Given the description of an element on the screen output the (x, y) to click on. 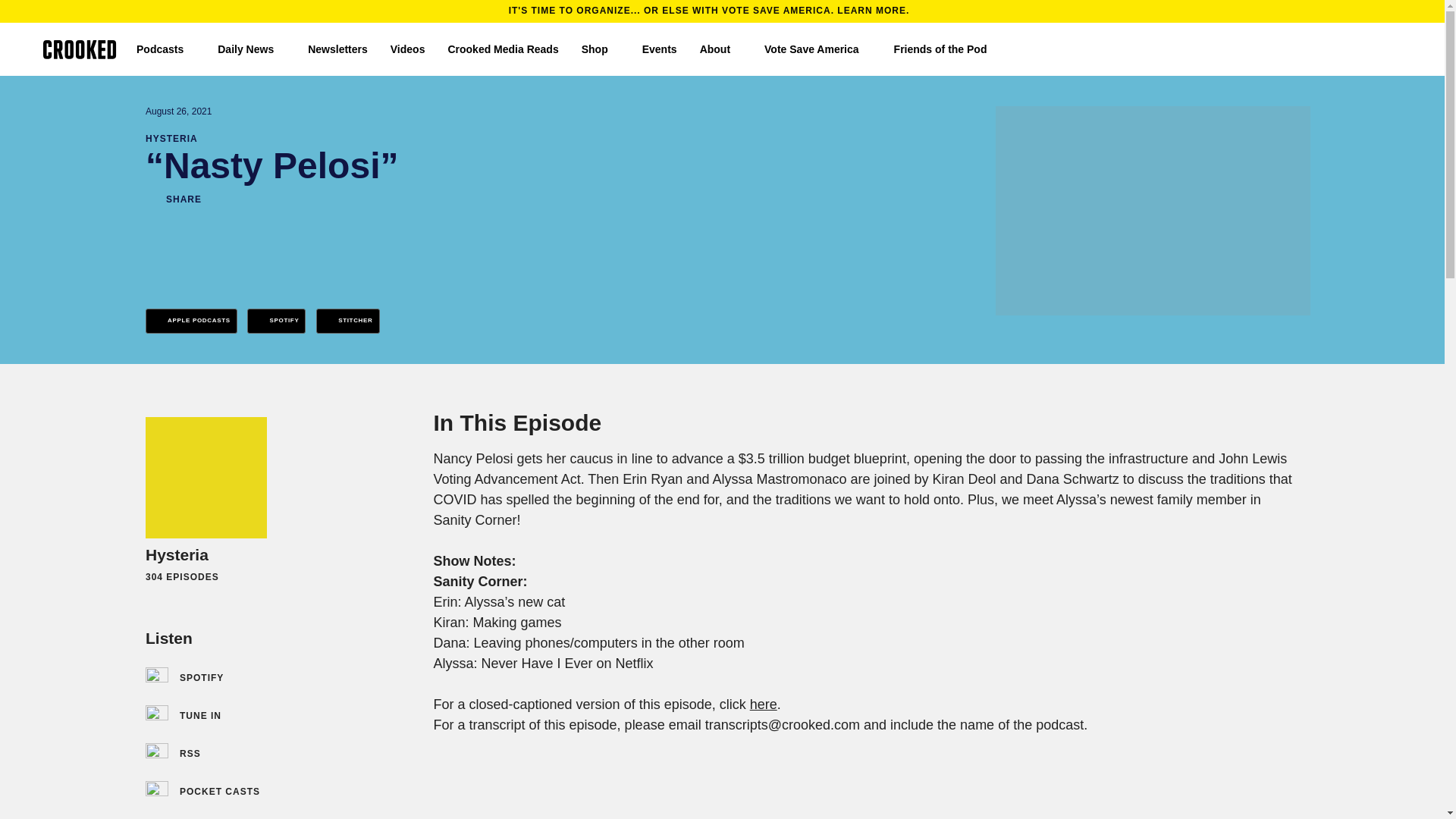
Events (659, 48)
Podcasts (165, 48)
Shop (600, 48)
Newsletters (337, 48)
Friends of the Pod (945, 48)
Daily News (250, 48)
Vote Save America (817, 48)
About (720, 48)
Videos (407, 48)
Crooked Media Reads (501, 48)
